Given the description of an element on the screen output the (x, y) to click on. 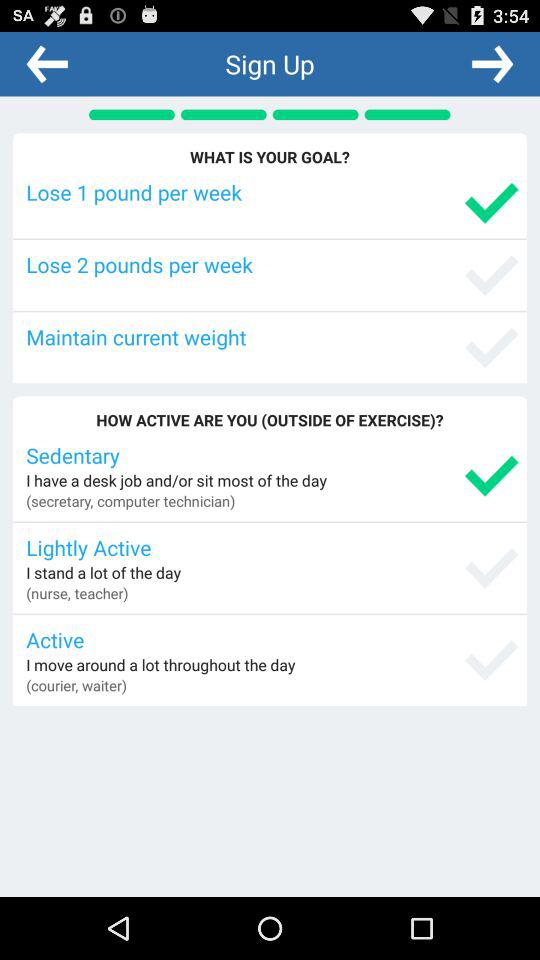
go back (47, 63)
